Given the description of an element on the screen output the (x, y) to click on. 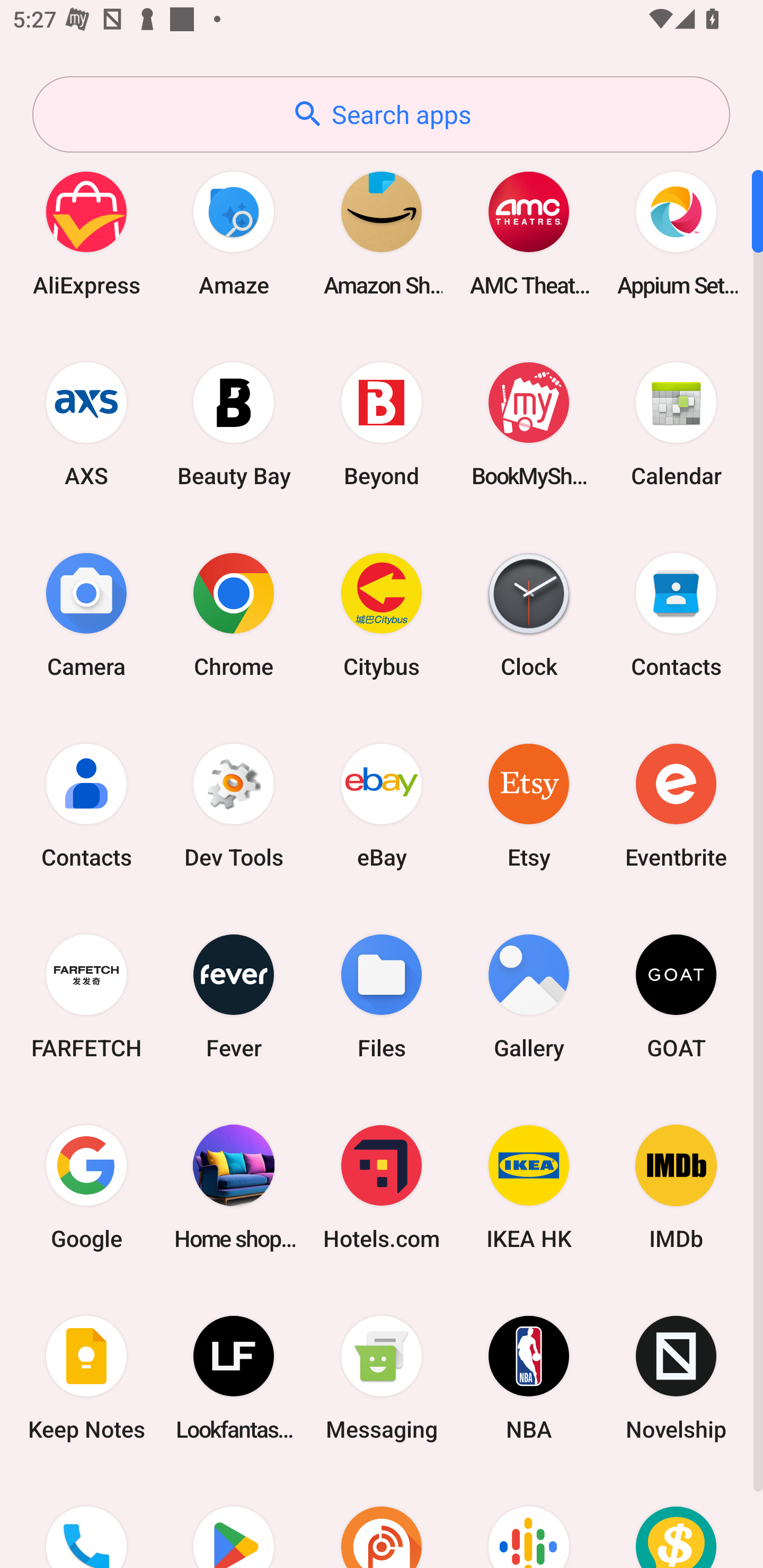
  Search apps (381, 114)
AliExpress (86, 233)
Amaze (233, 233)
Amazon Shopping (381, 233)
AMC Theatres (528, 233)
Appium Settings (676, 233)
AXS (86, 424)
Beauty Bay (233, 424)
Beyond (381, 424)
BookMyShow (528, 424)
Calendar (676, 424)
Camera (86, 614)
Chrome (233, 614)
Citybus (381, 614)
Clock (528, 614)
Contacts (676, 614)
Contacts (86, 805)
Dev Tools (233, 805)
eBay (381, 805)
Etsy (528, 805)
Eventbrite (676, 805)
FARFETCH (86, 996)
Fever (233, 996)
Files (381, 996)
Gallery (528, 996)
GOAT (676, 996)
Google (86, 1186)
Home shopping (233, 1186)
Hotels.com (381, 1186)
IKEA HK (528, 1186)
IMDb (676, 1186)
Keep Notes (86, 1377)
Lookfantastic (233, 1377)
Messaging (381, 1377)
NBA (528, 1377)
Novelship (676, 1377)
Phone (86, 1520)
Play Store (233, 1520)
Podcast Addict (381, 1520)
Podcasts (528, 1520)
Price (676, 1520)
